Given the description of an element on the screen output the (x, y) to click on. 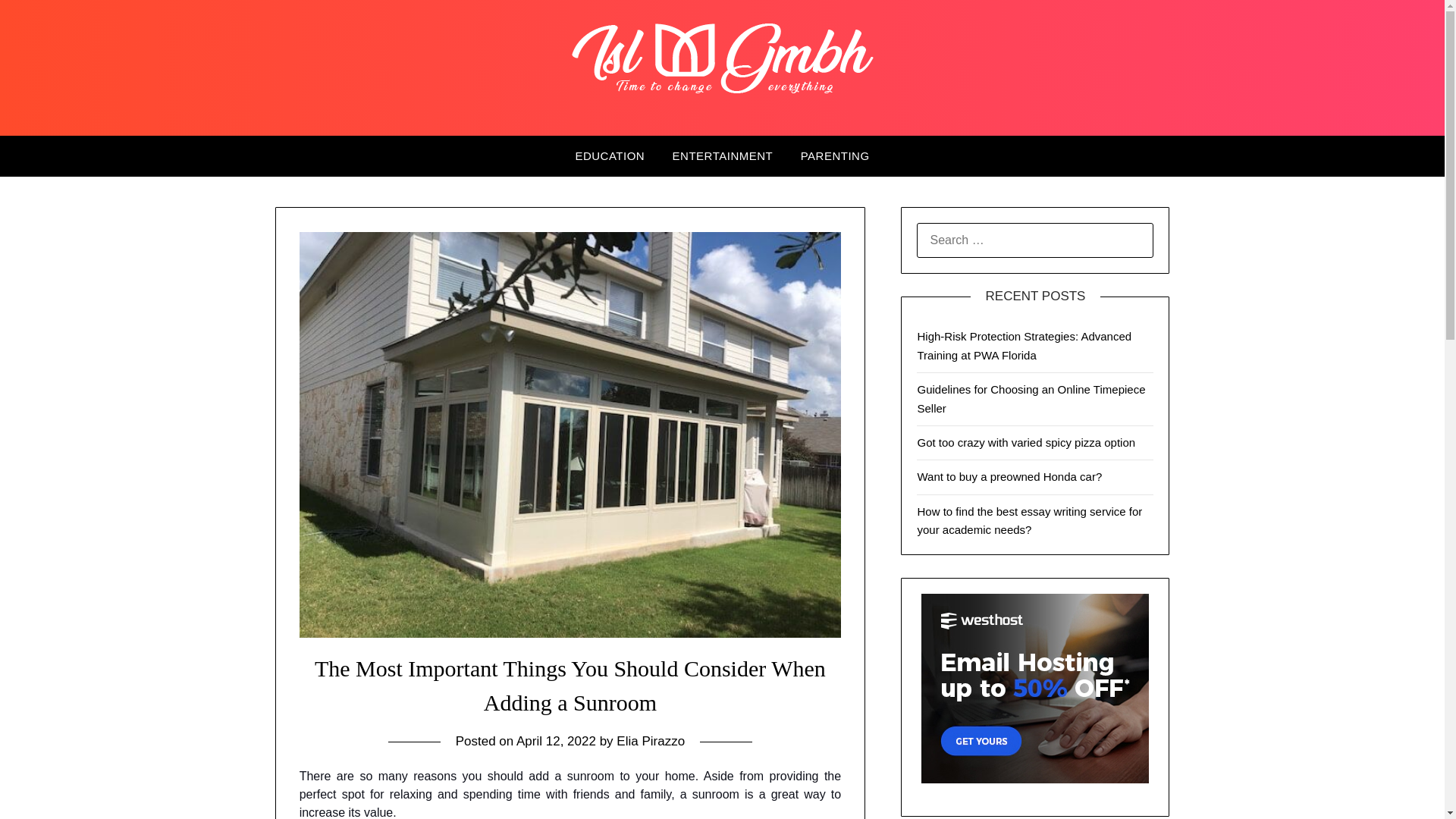
April 12, 2022 (555, 740)
Guidelines for Choosing an Online Timepiece Seller (1030, 398)
EDUCATION (609, 155)
Elia Pirazzo (649, 740)
PARENTING (835, 155)
Got too crazy with varied spicy pizza option (1026, 441)
Search (38, 22)
Want to buy a preowned Honda car? (1009, 476)
